Given the description of an element on the screen output the (x, y) to click on. 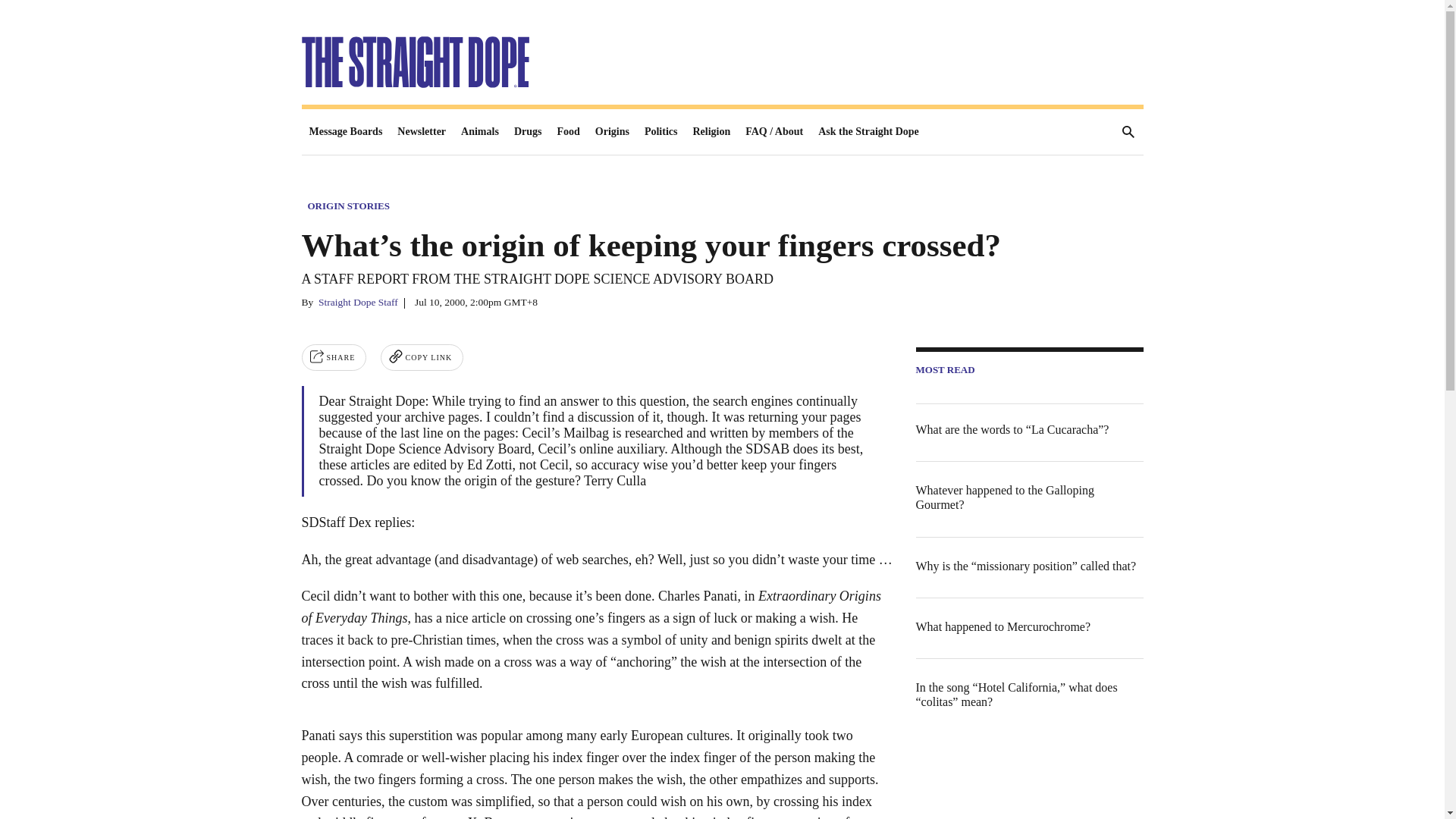
Origins (612, 131)
Politics (661, 131)
Message Boards (345, 131)
Straight Dope Staff (357, 301)
COPY LINK (422, 357)
Newsletter (421, 131)
Religion (711, 131)
SHARE (333, 357)
Show Search (1119, 132)
Ask the Straight Dope (868, 131)
